Given the description of an element on the screen output the (x, y) to click on. 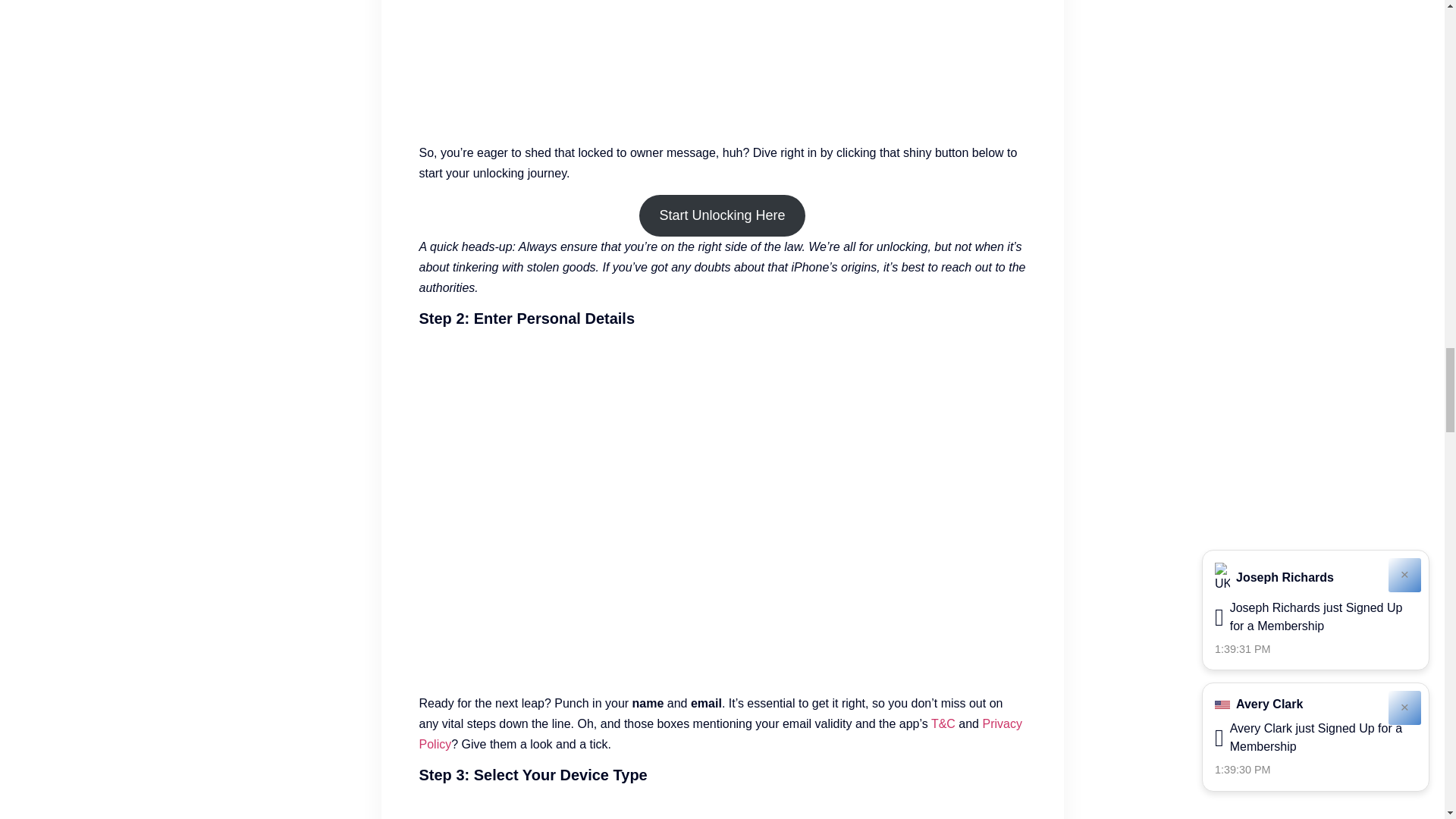
Fix iPhone XR Locked to Owner: iPhone XR Unlock 4 (722, 65)
Fix iPhone XR Locked to Owner: iPhone XR Unlock 6 (722, 807)
